Given the description of an element on the screen output the (x, y) to click on. 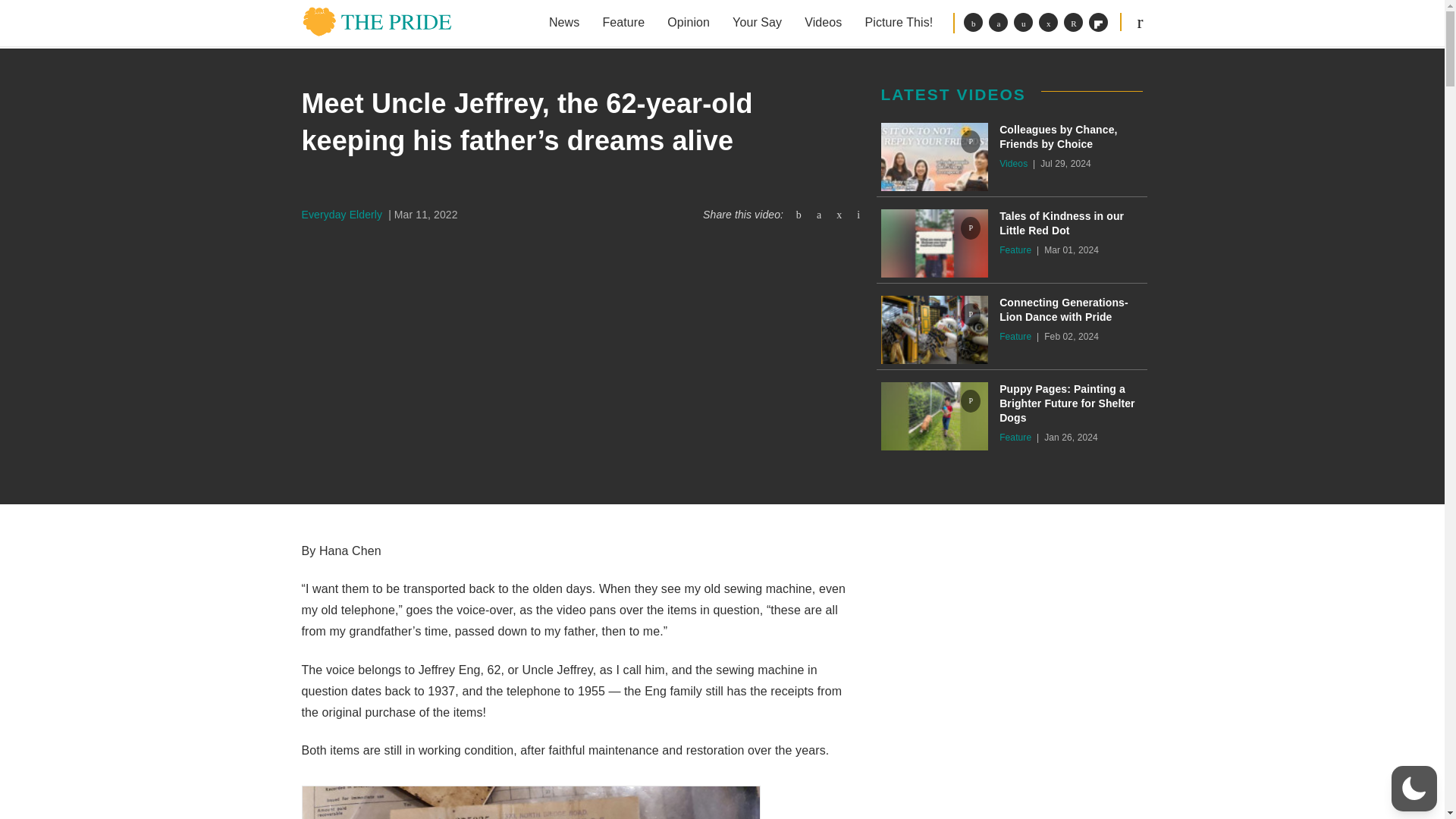
Videos (1014, 163)
Videos (823, 22)
Everyday Elderly (343, 214)
Flipboard (1098, 22)
Youtube (1073, 22)
Opinion (688, 22)
Your Say (756, 22)
Picture This! (898, 22)
Singapore Kindness Movement - The Pride (376, 21)
Colleagues by Chance, Friends by Choice (1070, 136)
